Given the description of an element on the screen output the (x, y) to click on. 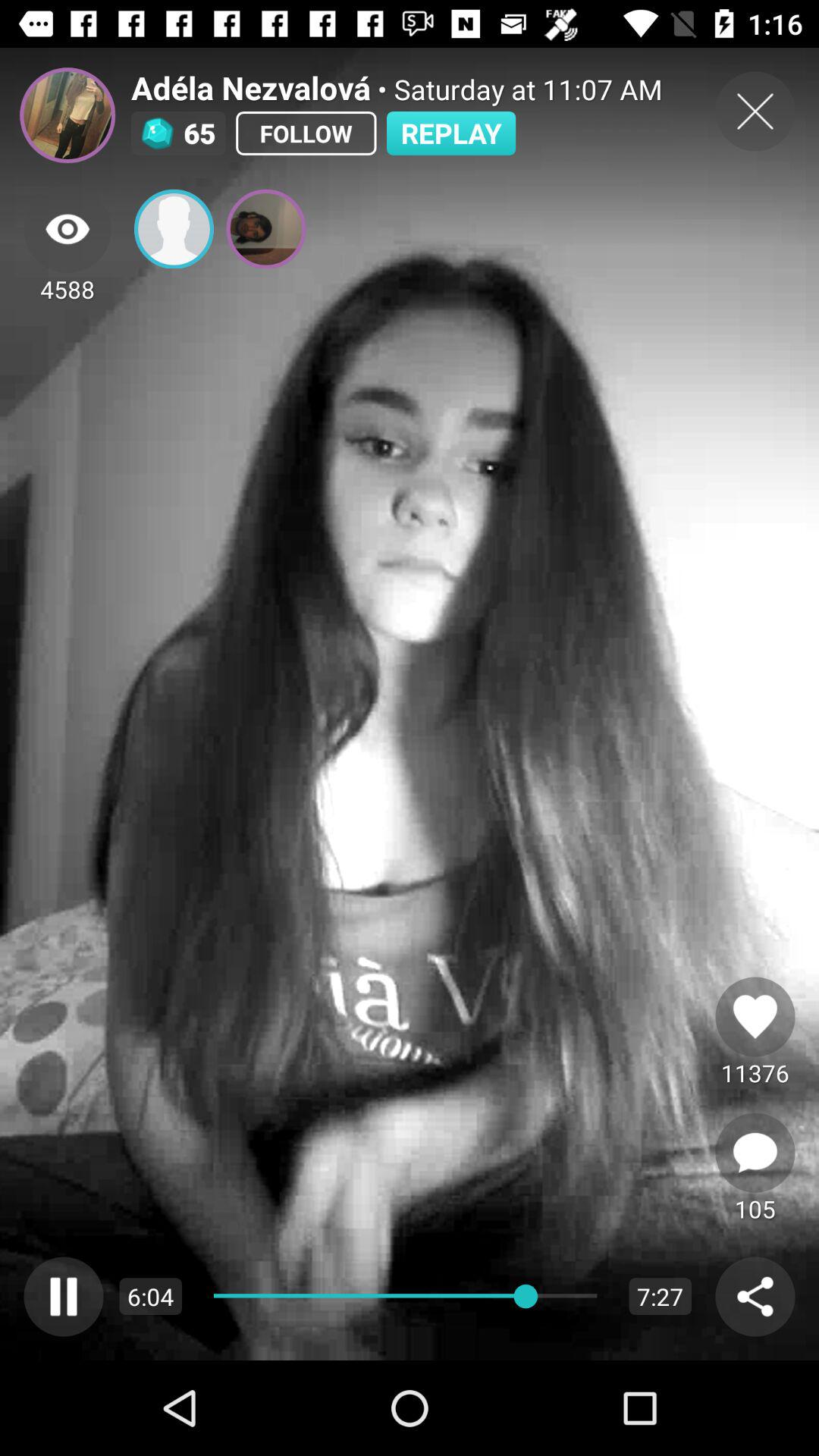
contact (173, 229)
